Given the description of an element on the screen output the (x, y) to click on. 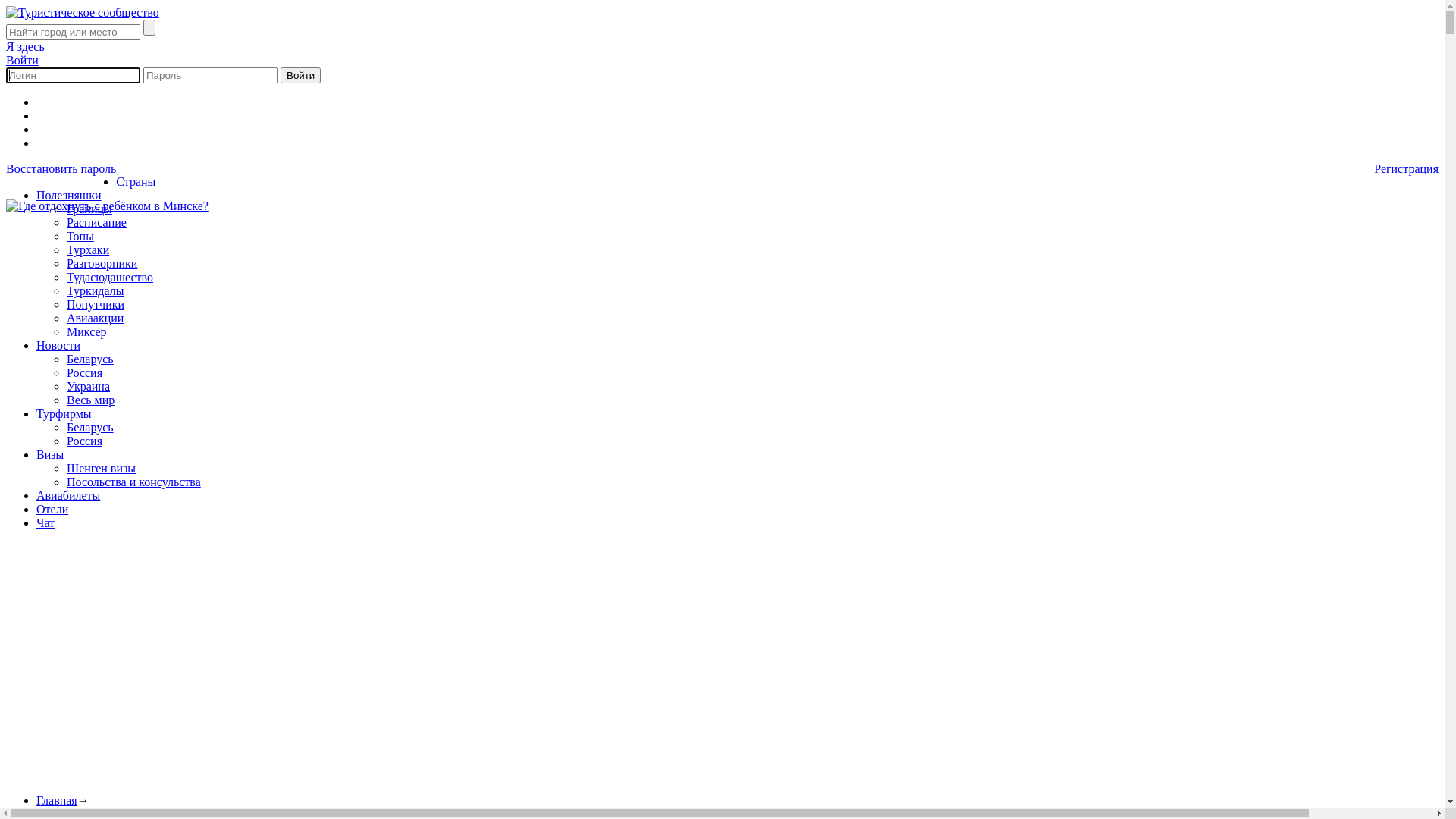
Advertisement Element type: hover (461, 675)
